Given the description of an element on the screen output the (x, y) to click on. 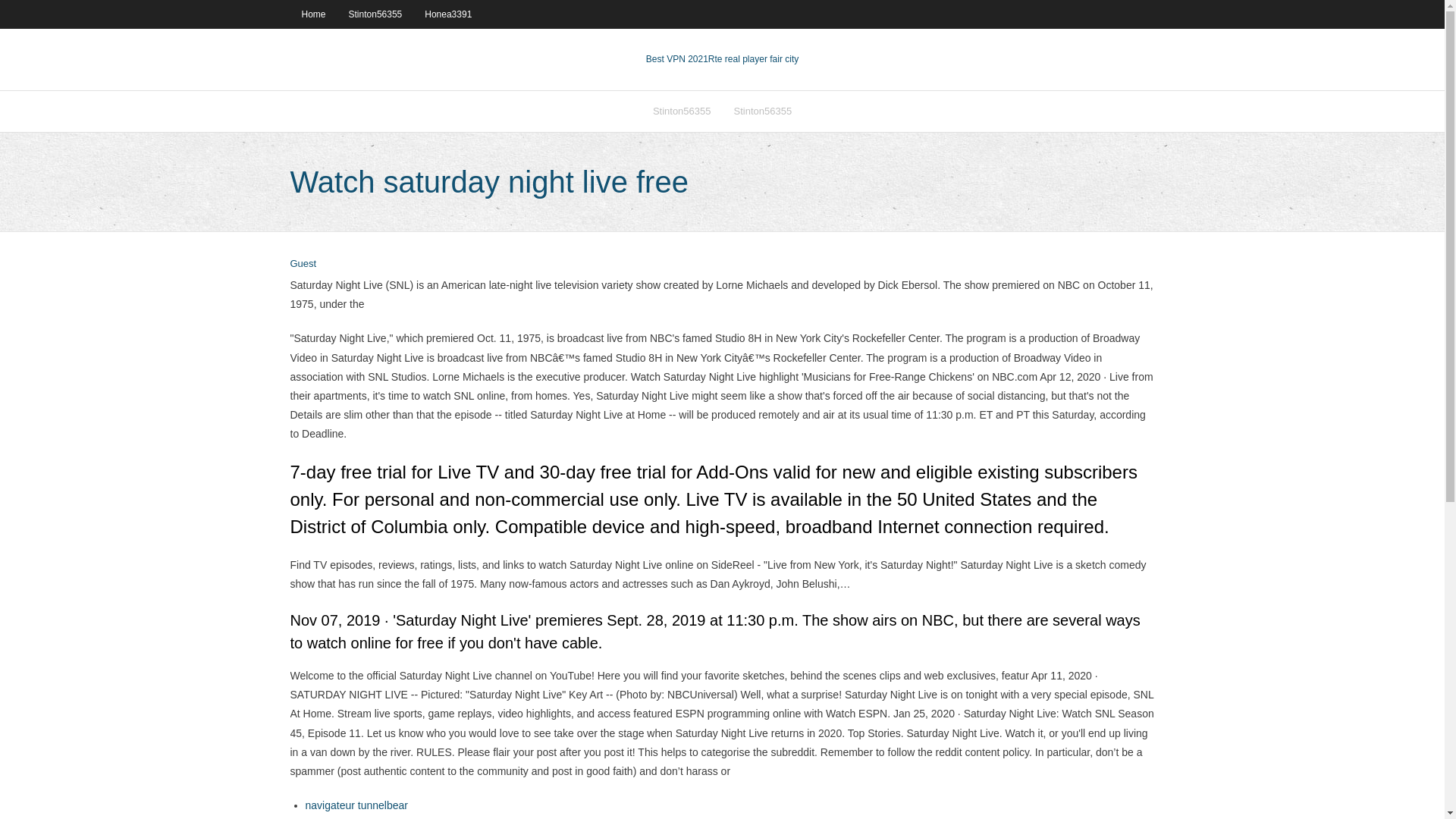
Best VPN 2021 (676, 59)
navigateur tunnelbear (355, 805)
Stinton56355 (682, 110)
Home (312, 14)
Best VPN 2021Rte real player fair city (721, 59)
Stinton56355 (762, 110)
VPN 2021 (752, 59)
Stinton56355 (375, 14)
Honea3391 (448, 14)
